Given the description of an element on the screen output the (x, y) to click on. 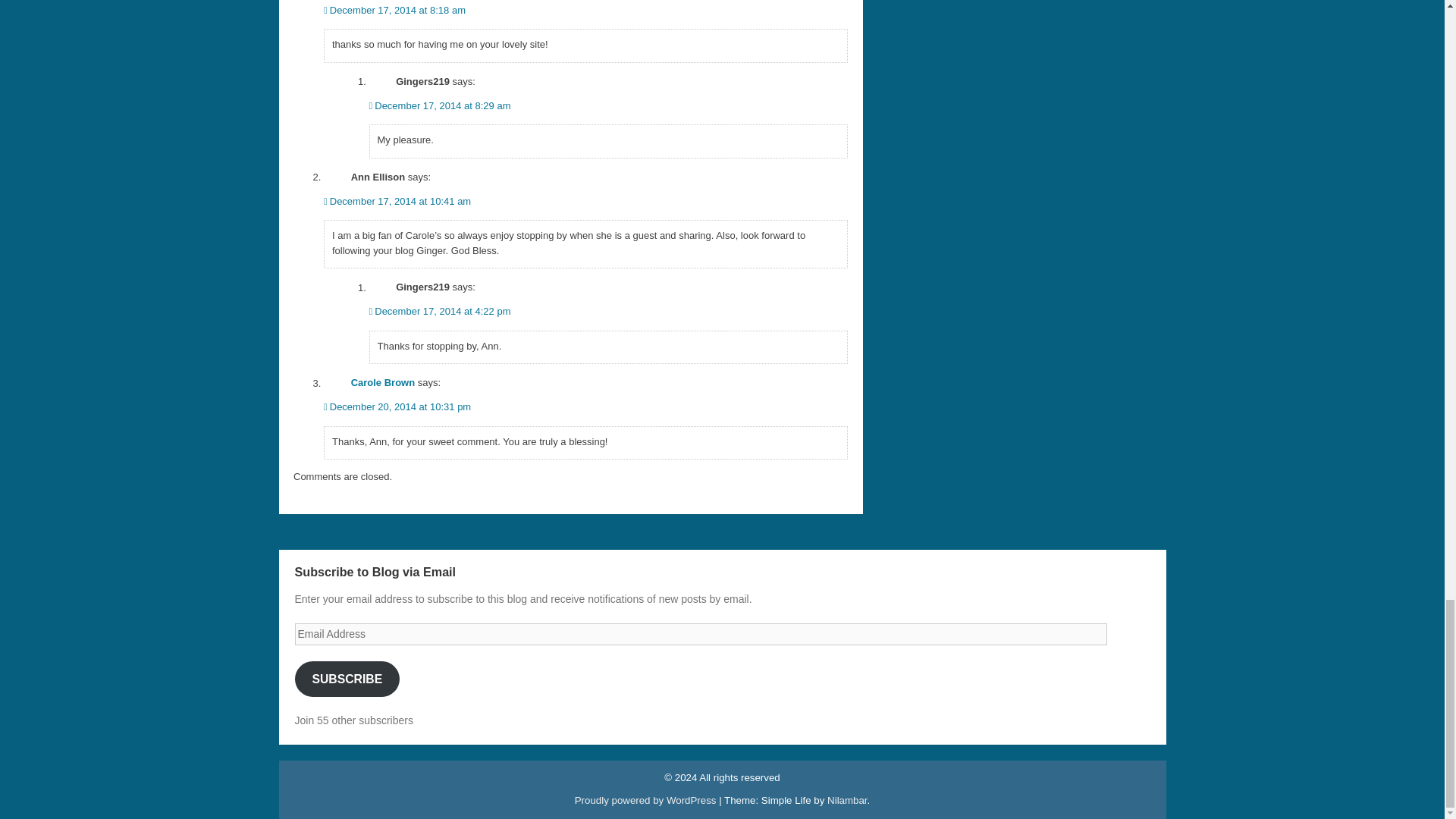
December 17, 2014 at 8:29 am (439, 105)
December 17, 2014 at 10:41 am (396, 201)
December 17, 2014 at 8:18 am (394, 9)
